Given the description of an element on the screen output the (x, y) to click on. 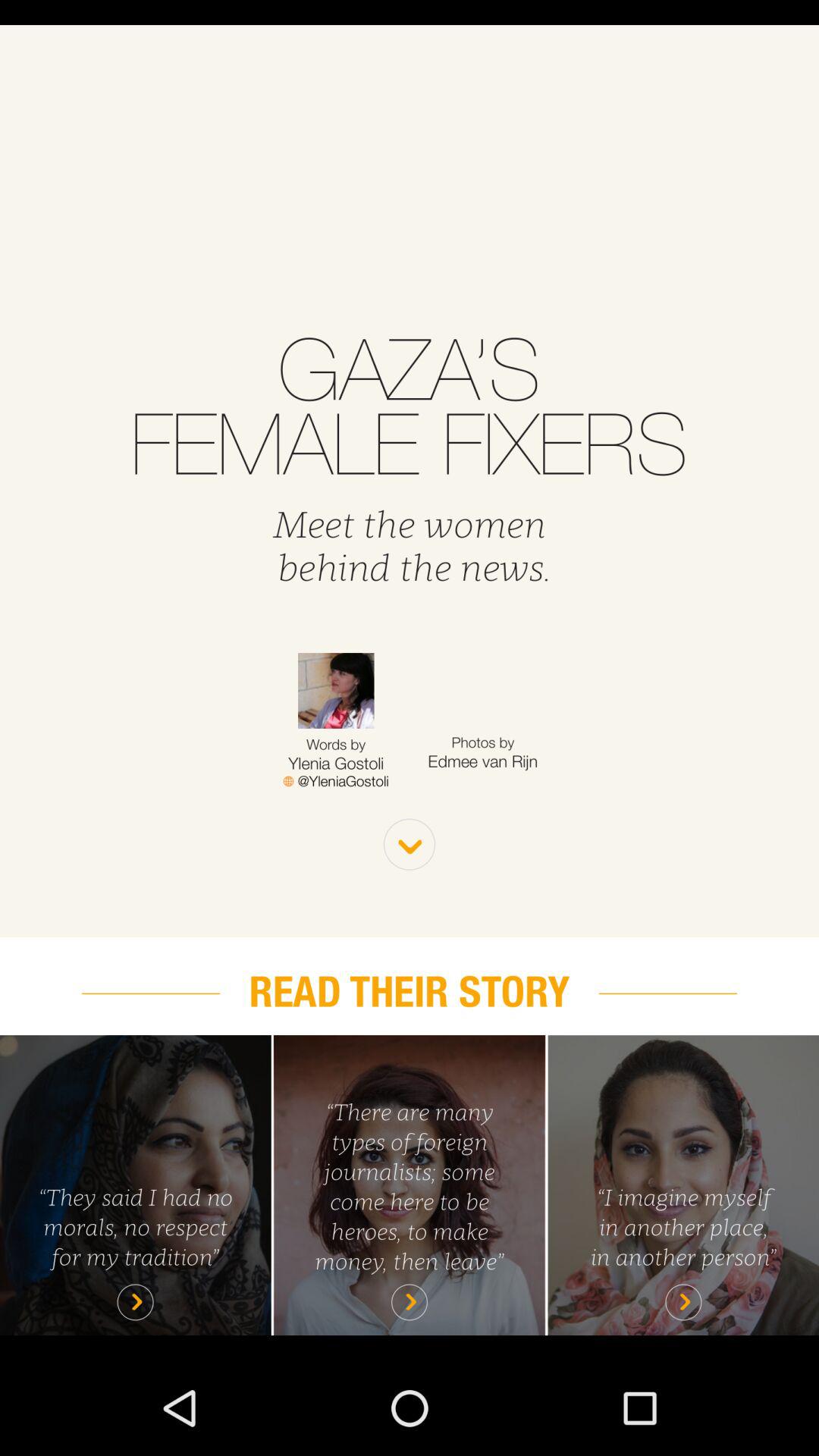
read highlighted story (409, 1184)
